Given the description of an element on the screen output the (x, y) to click on. 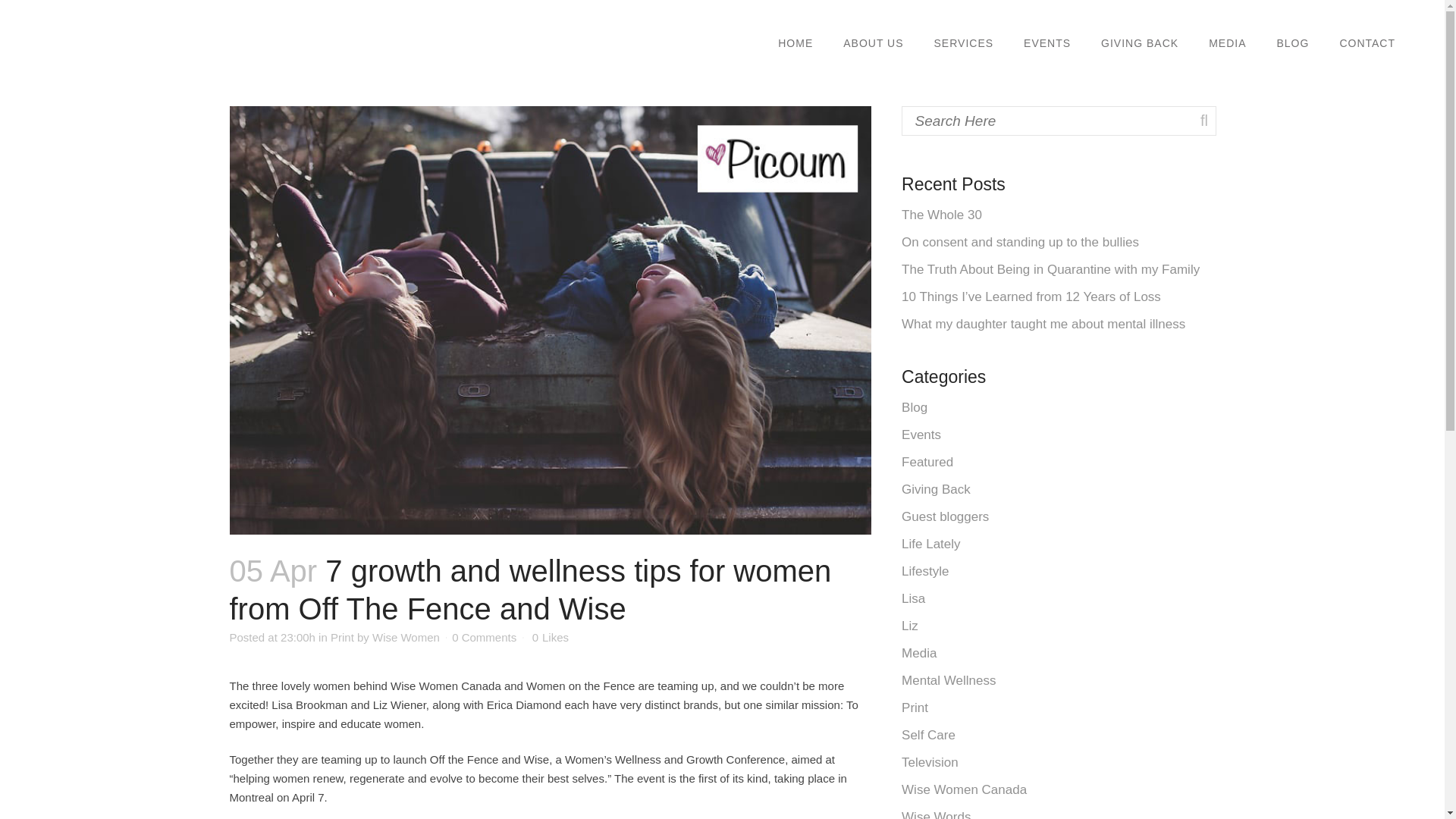
SERVICES (963, 43)
The Truth About Being in Quarantine with my Family (1050, 269)
Lifestyle (925, 571)
Wise Women (405, 636)
What my daughter taught me about mental illness (1043, 323)
0 Likes (550, 637)
CONTACT (1366, 43)
Print (341, 636)
GIVING BACK (1139, 43)
Lisa (912, 598)
Blog (914, 407)
Events (920, 434)
Life Lately (930, 544)
Liz (909, 626)
ABOUT US (873, 43)
